Given the description of an element on the screen output the (x, y) to click on. 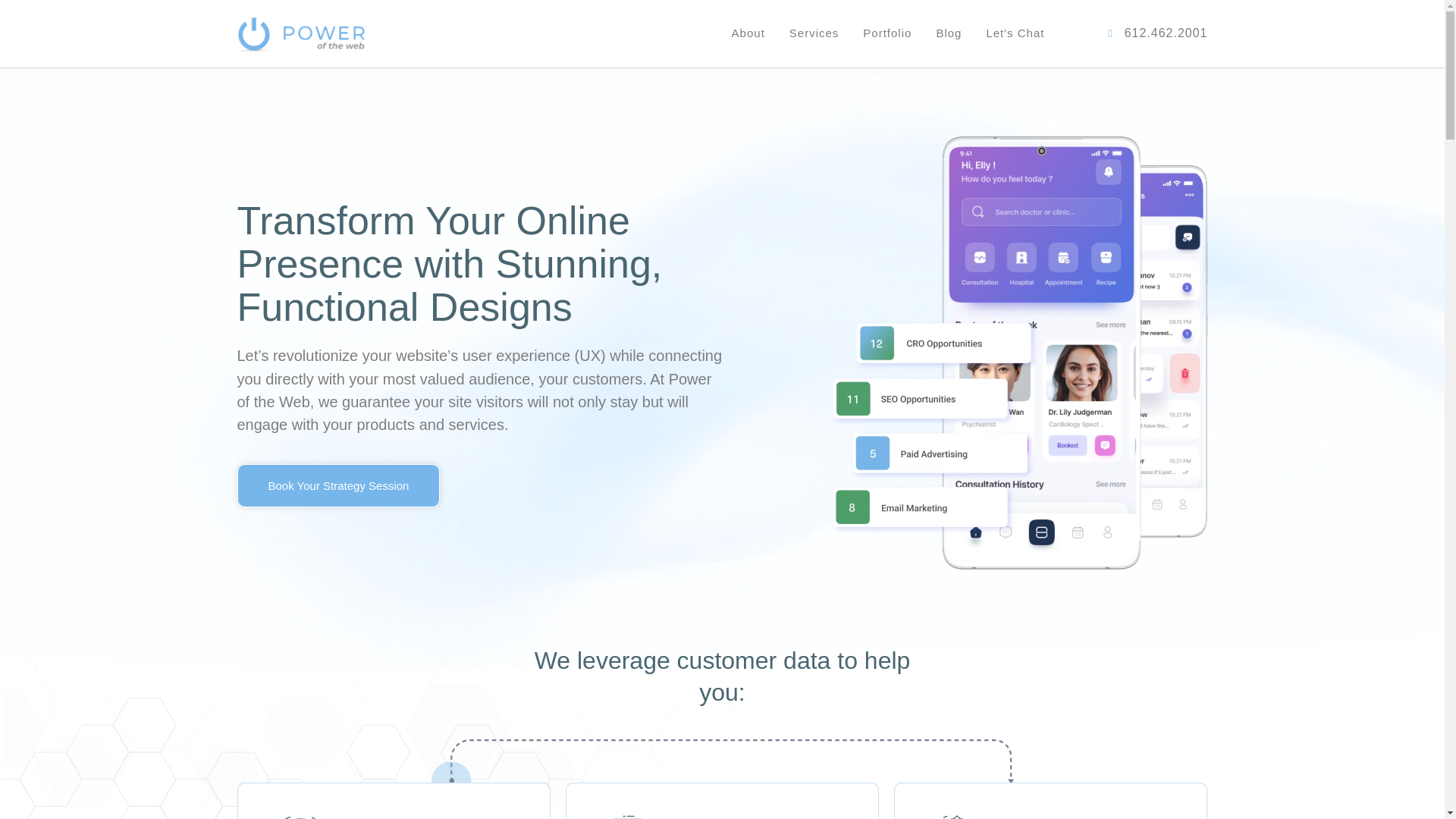
Portfolio (887, 33)
Services (814, 33)
Let's Chat (1014, 33)
About (748, 33)
Blog (948, 33)
612.462.2001 (1135, 33)
